Given the description of an element on the screen output the (x, y) to click on. 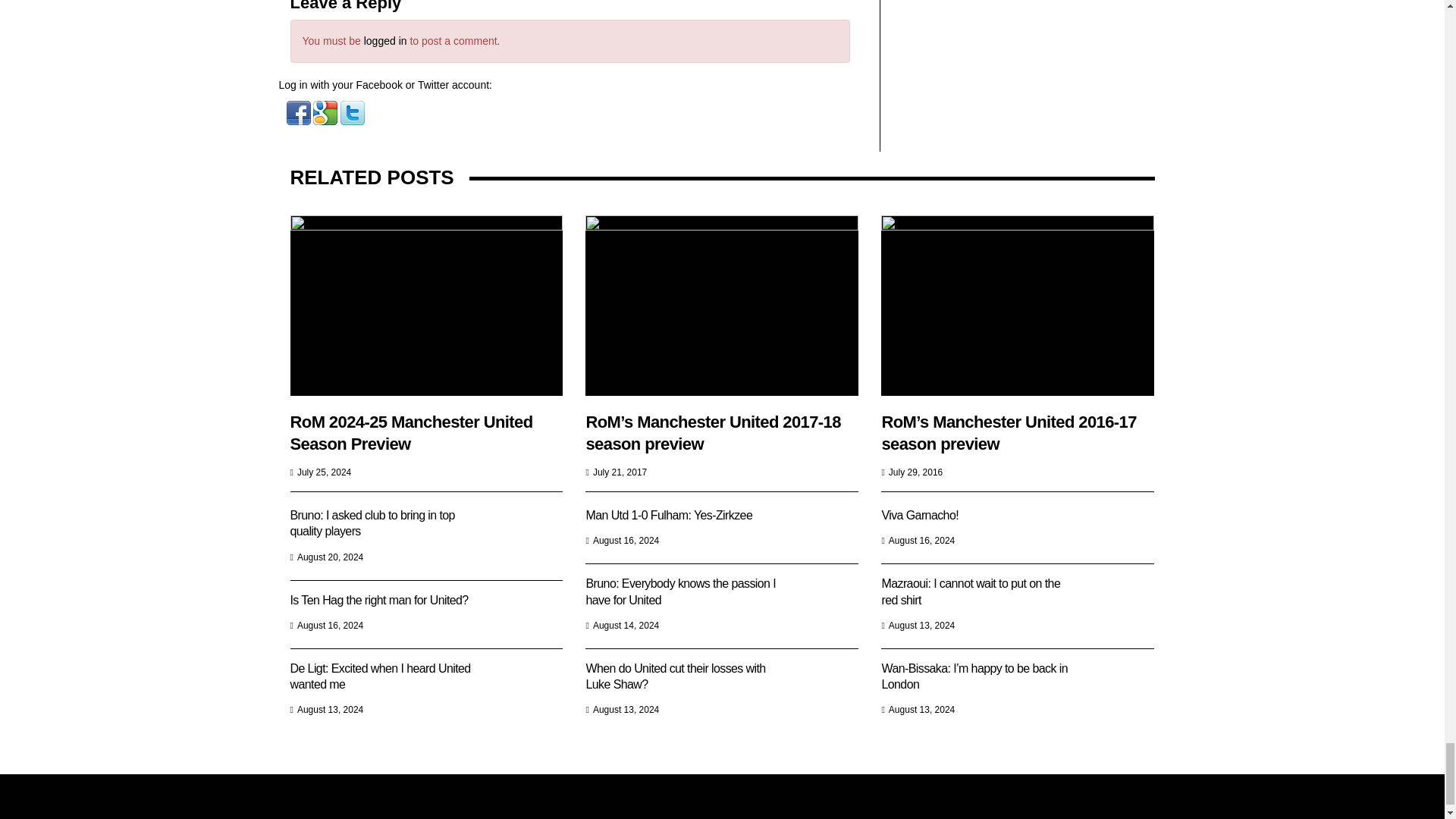
Connect with Twitter (352, 111)
Connect with Google (326, 111)
RoM 2024-25 Manchester United Season Preview (425, 304)
Connect with Facebook (300, 111)
